Given the description of an element on the screen output the (x, y) to click on. 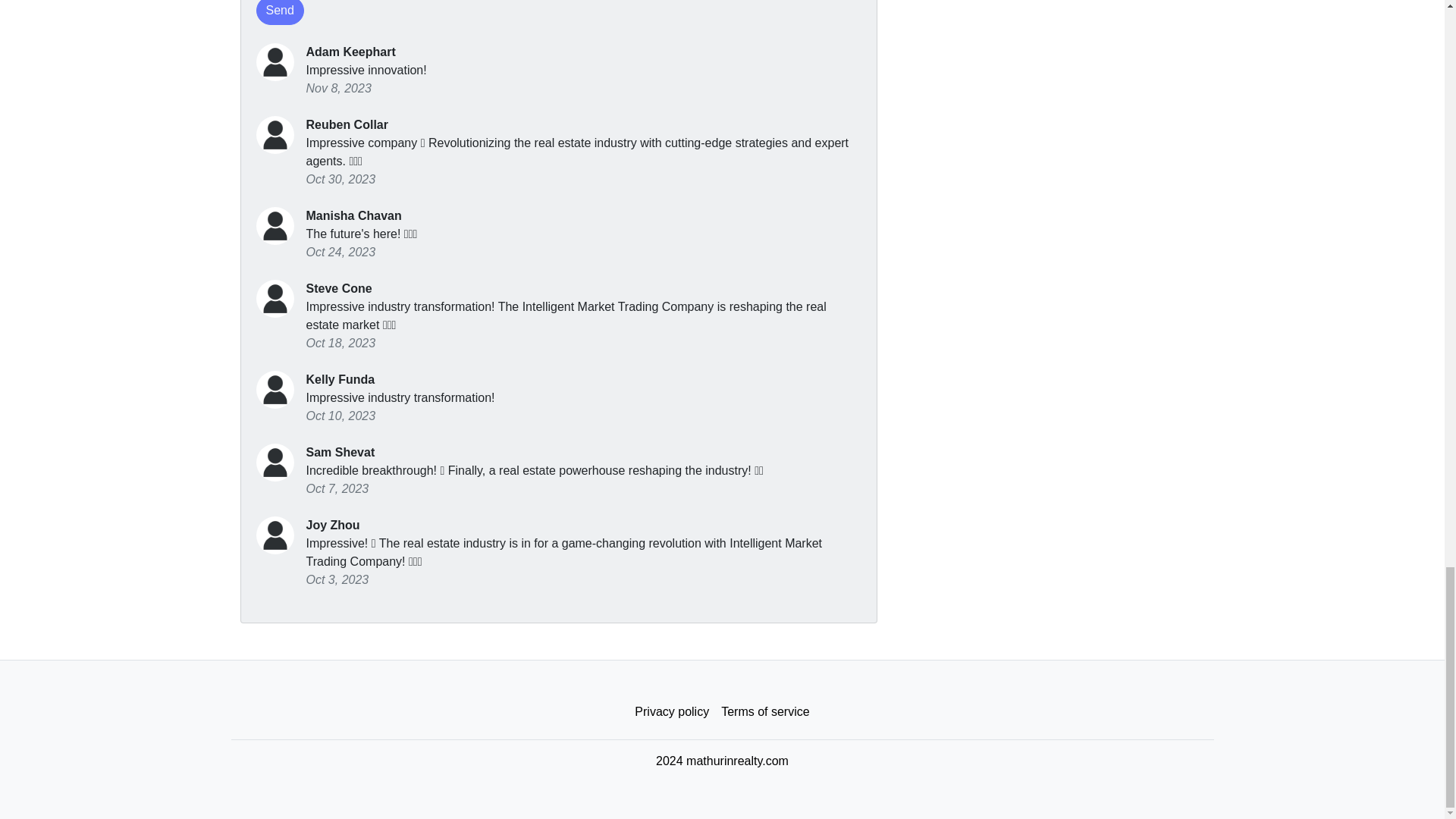
Terms of service (764, 711)
Send (280, 12)
Privacy policy (671, 711)
Send (280, 12)
